Given the description of an element on the screen output the (x, y) to click on. 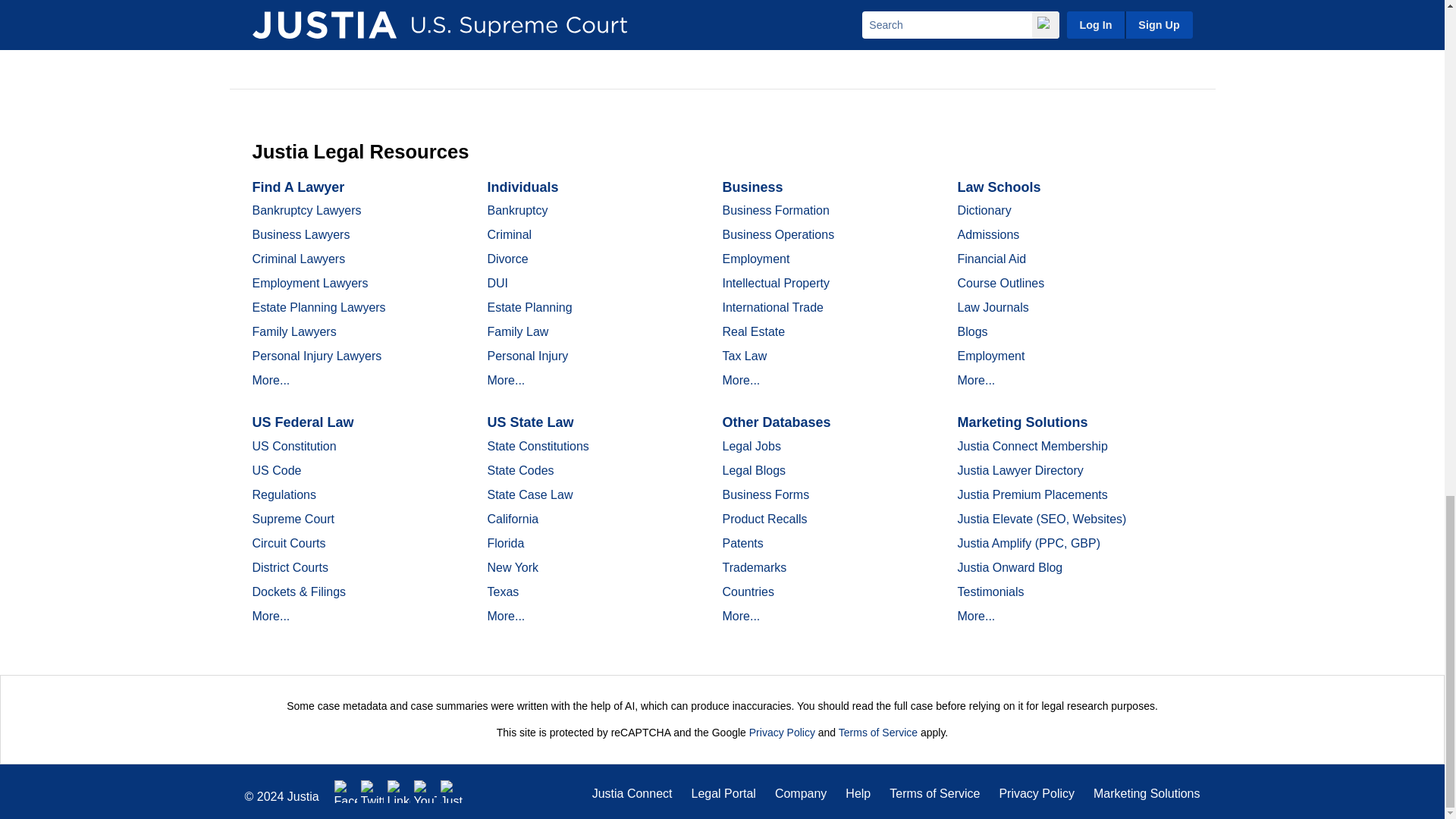
LinkedIn (398, 790)
Justia Lawyer Directory (452, 790)
Twitter (372, 790)
Facebook (345, 790)
YouTube (424, 790)
